Given the description of an element on the screen output the (x, y) to click on. 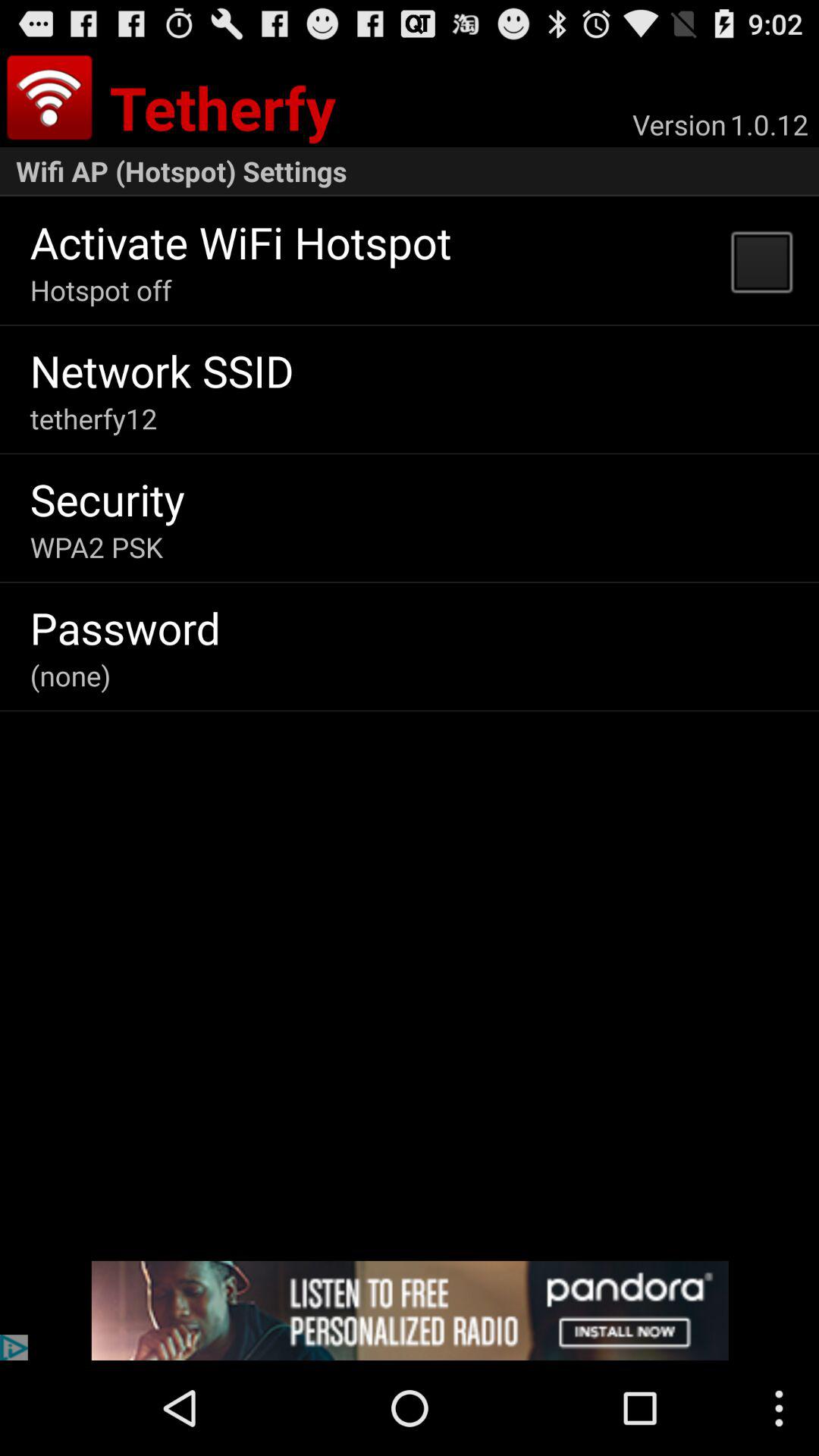
swipe to the tetherfy12 (93, 418)
